Given the description of an element on the screen output the (x, y) to click on. 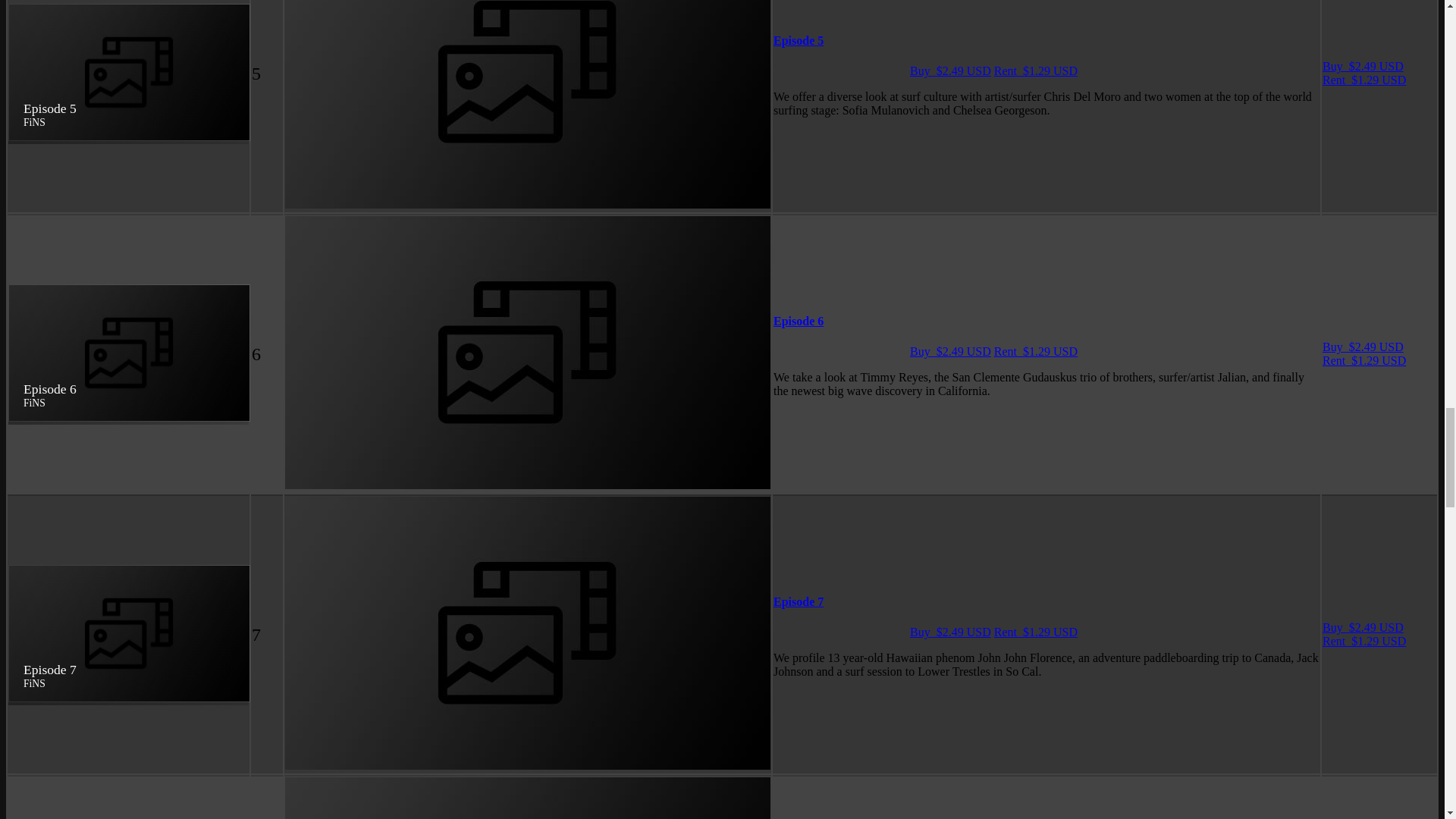
Episode  6 (798, 320)
Episode  5 (798, 40)
Episode  7 (798, 601)
